Given the description of an element on the screen output the (x, y) to click on. 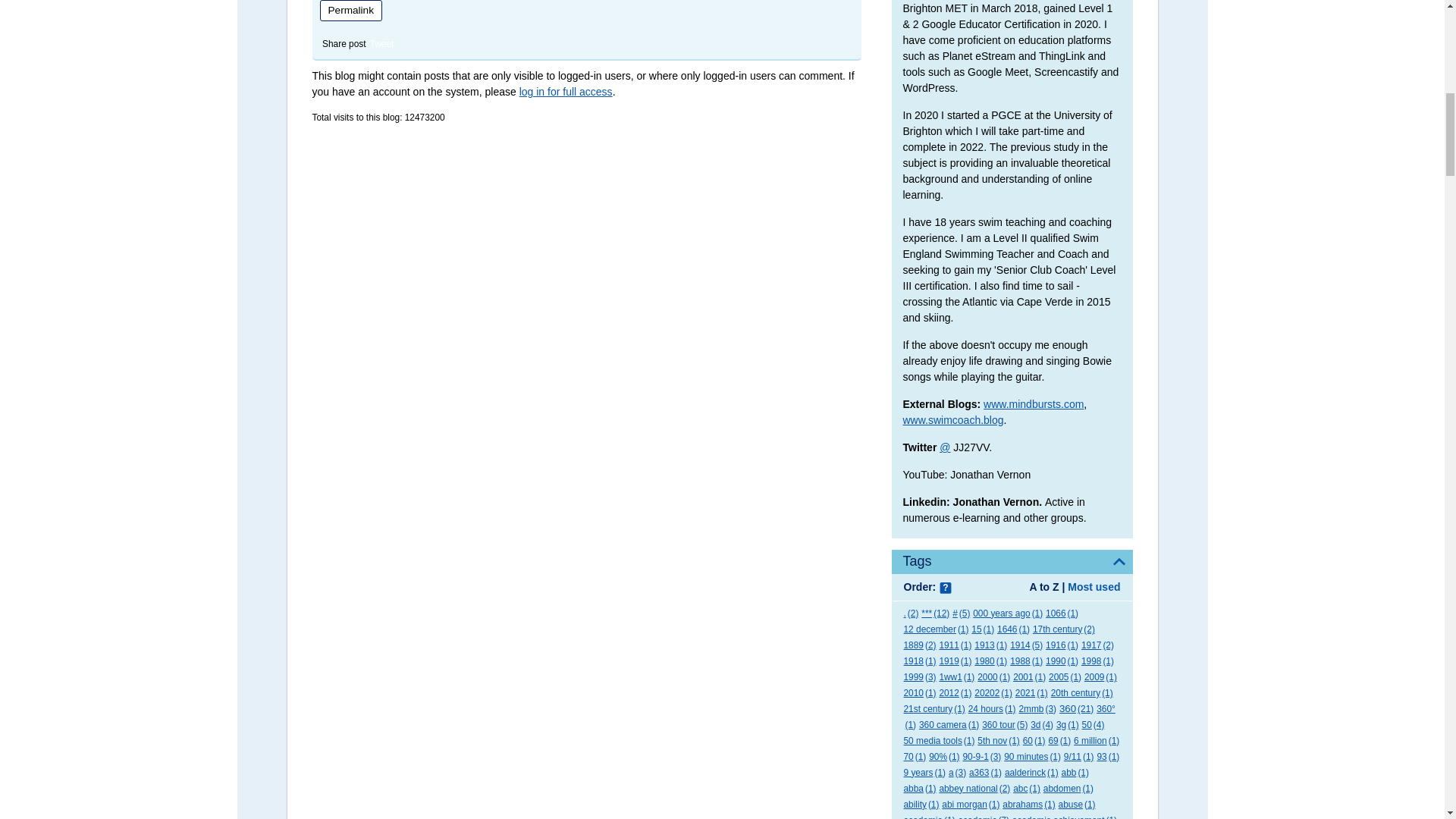
Help with Order: (945, 588)
Tags (1011, 561)
Most used (1093, 586)
www.swimcoach.blog (952, 419)
www.mindbursts.com (1033, 404)
